Given the description of an element on the screen output the (x, y) to click on. 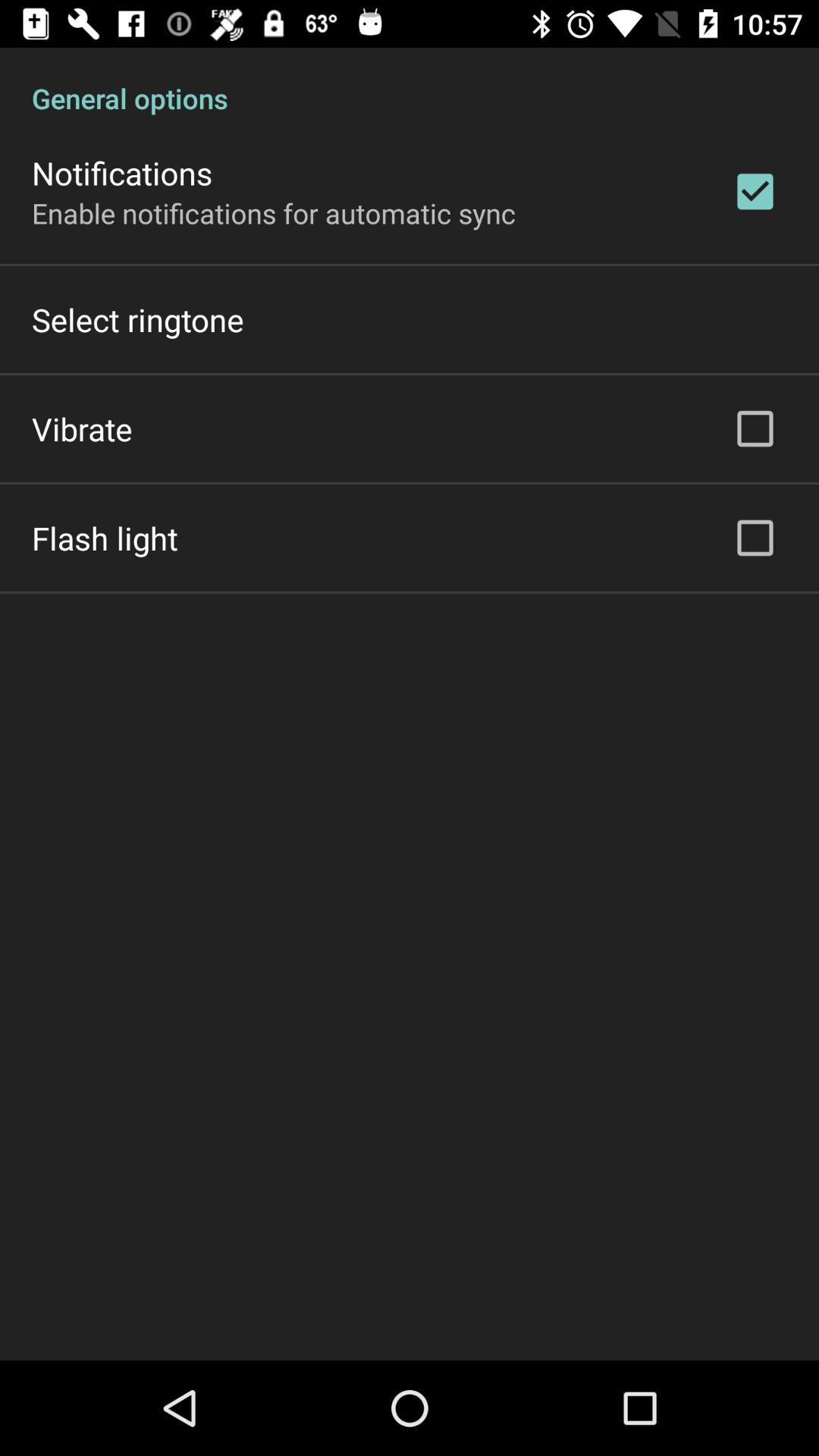
tap the flash light on the left (104, 537)
